Given the description of an element on the screen output the (x, y) to click on. 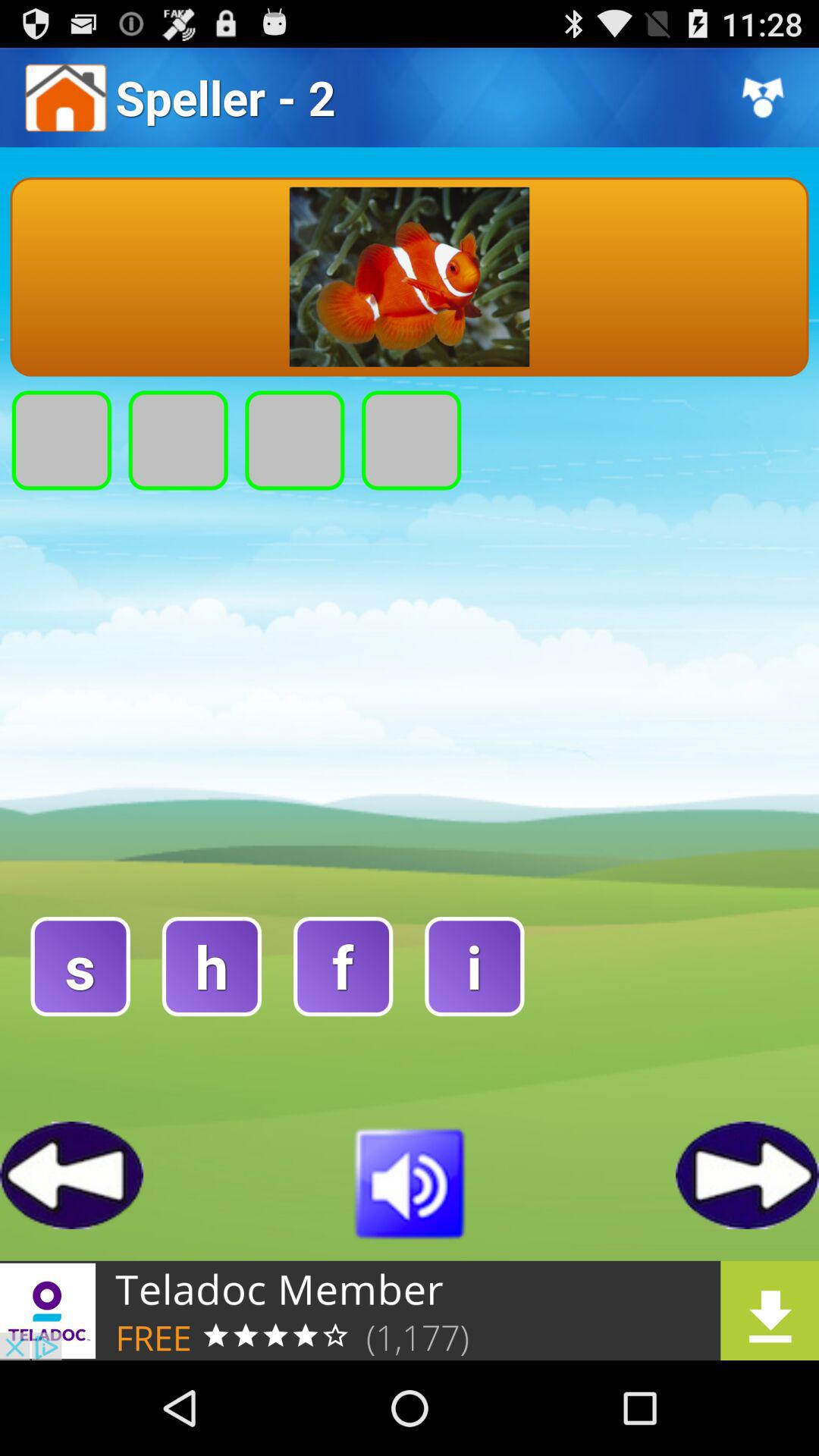
next (747, 1175)
